Given the description of an element on the screen output the (x, y) to click on. 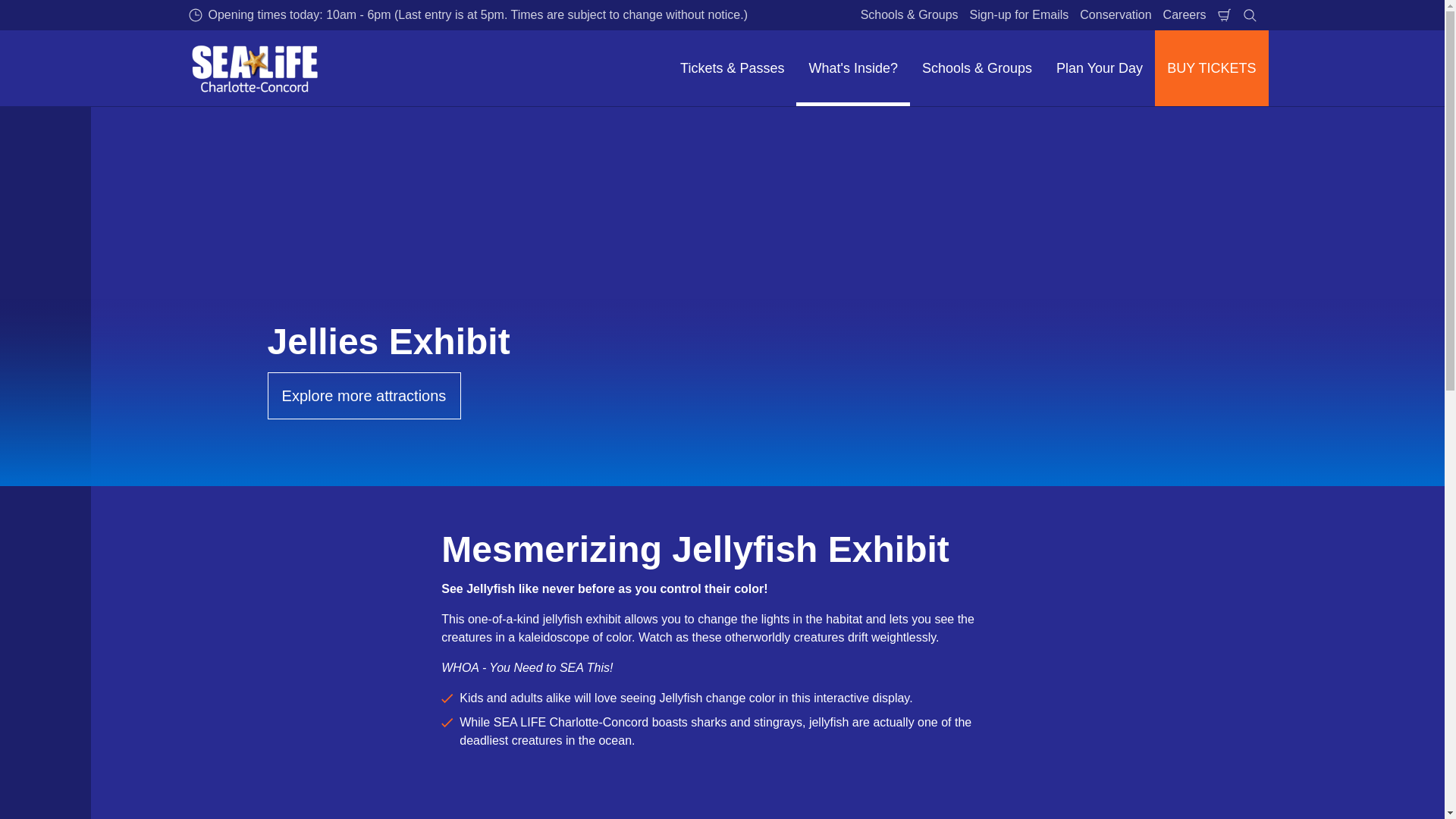
Check out (1223, 14)
Search (1249, 14)
Conservation (1114, 14)
Careers (1183, 14)
Shopping Cart (1223, 14)
Sign-up for Emails (1019, 14)
What's Inside? (853, 68)
